Given the description of an element on the screen output the (x, y) to click on. 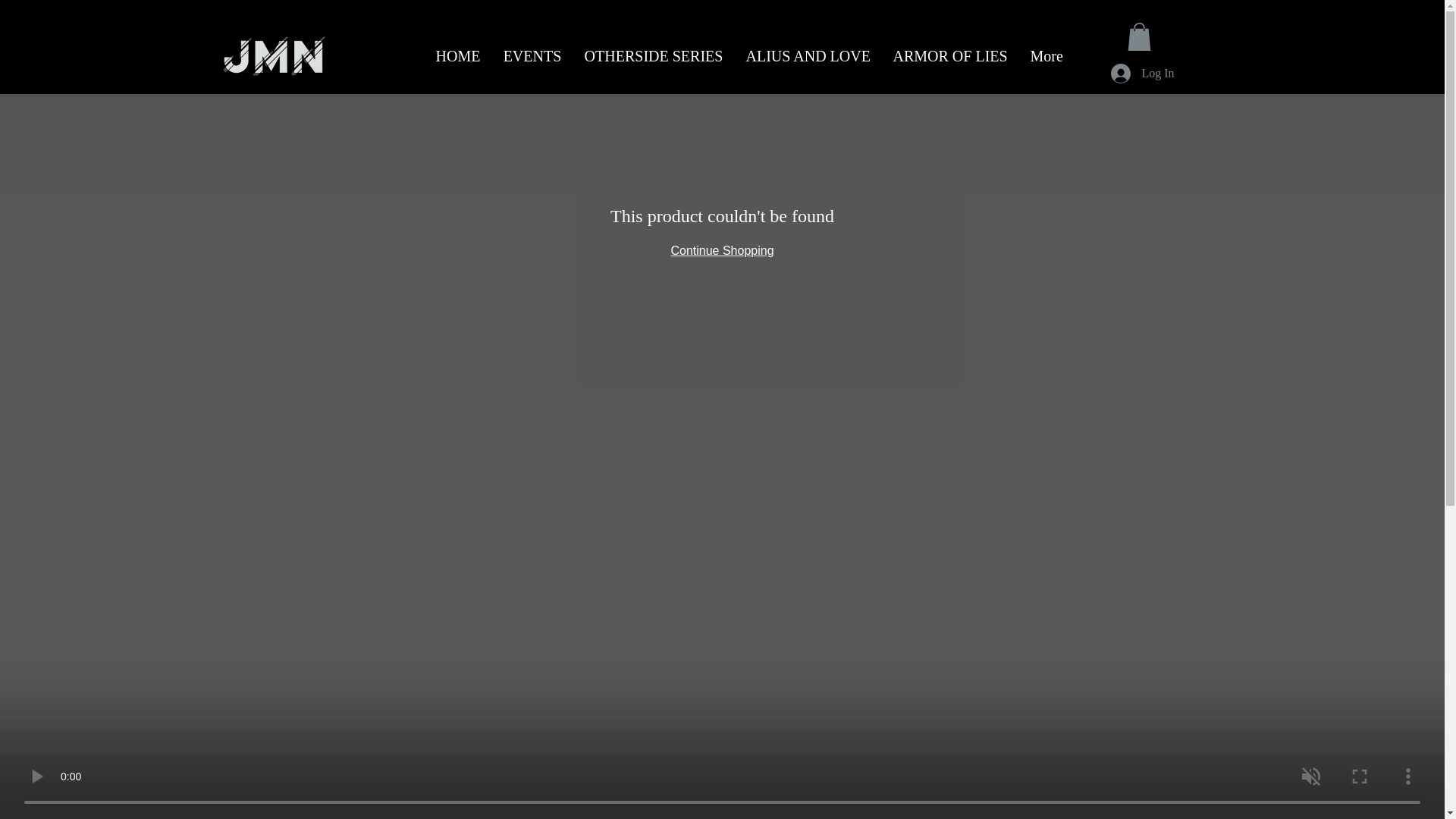
EVENTS (532, 56)
Log In (1142, 72)
OTHERSIDE SERIES (654, 56)
ARMOR OF LIES (948, 56)
Continue Shopping (721, 250)
ALIUS AND LOVE (806, 56)
HOME (458, 56)
